Given the description of an element on the screen output the (x, y) to click on. 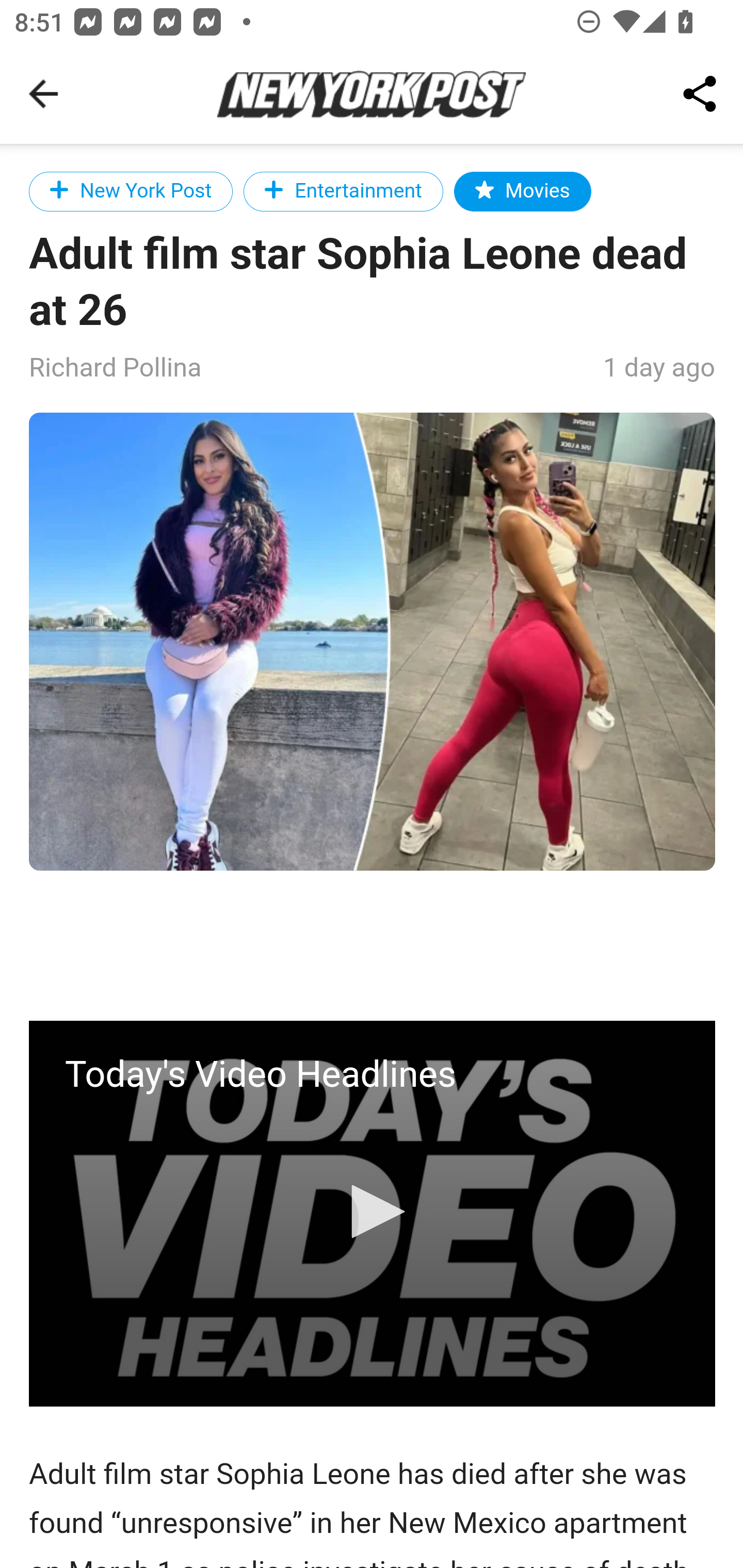
New York Post (131, 191)
Entertainment (343, 191)
Movies (522, 191)
Play (372, 1210)
